Given the description of an element on the screen output the (x, y) to click on. 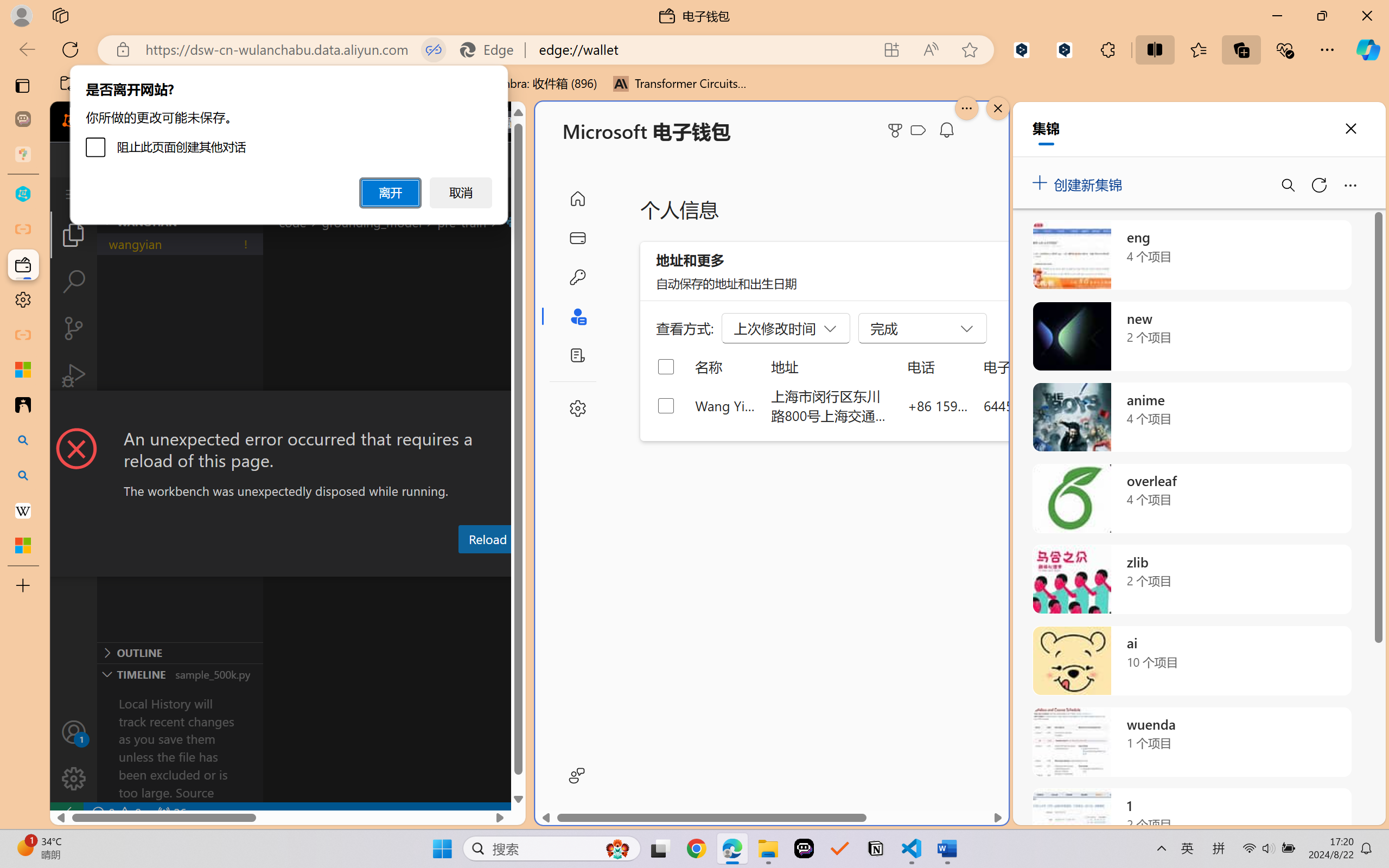
Earth - Wikipedia (22, 510)
Close Dialog (520, 410)
remote (66, 812)
